Given the description of an element on the screen output the (x, y) to click on. 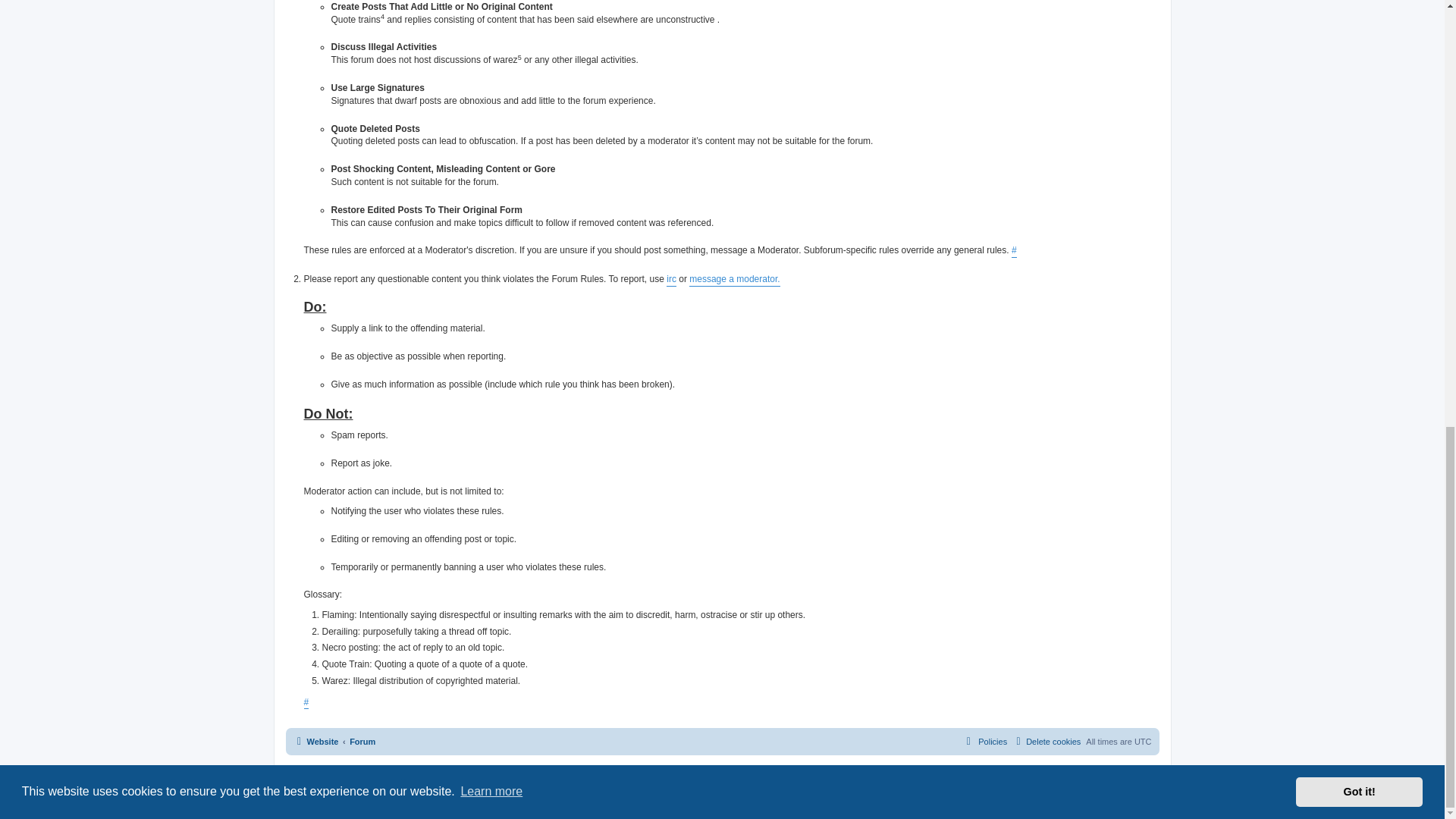
Website (314, 741)
Website (314, 741)
irc (671, 279)
phpBB (682, 769)
UTC (1142, 741)
Terms (737, 783)
Terms (737, 783)
 Policies (984, 741)
Delete cookies (1045, 741)
Privacy (707, 783)
message a moderator. (733, 279)
Forum (362, 741)
Privacy (707, 783)
Forum (362, 741)
